Given the description of an element on the screen output the (x, y) to click on. 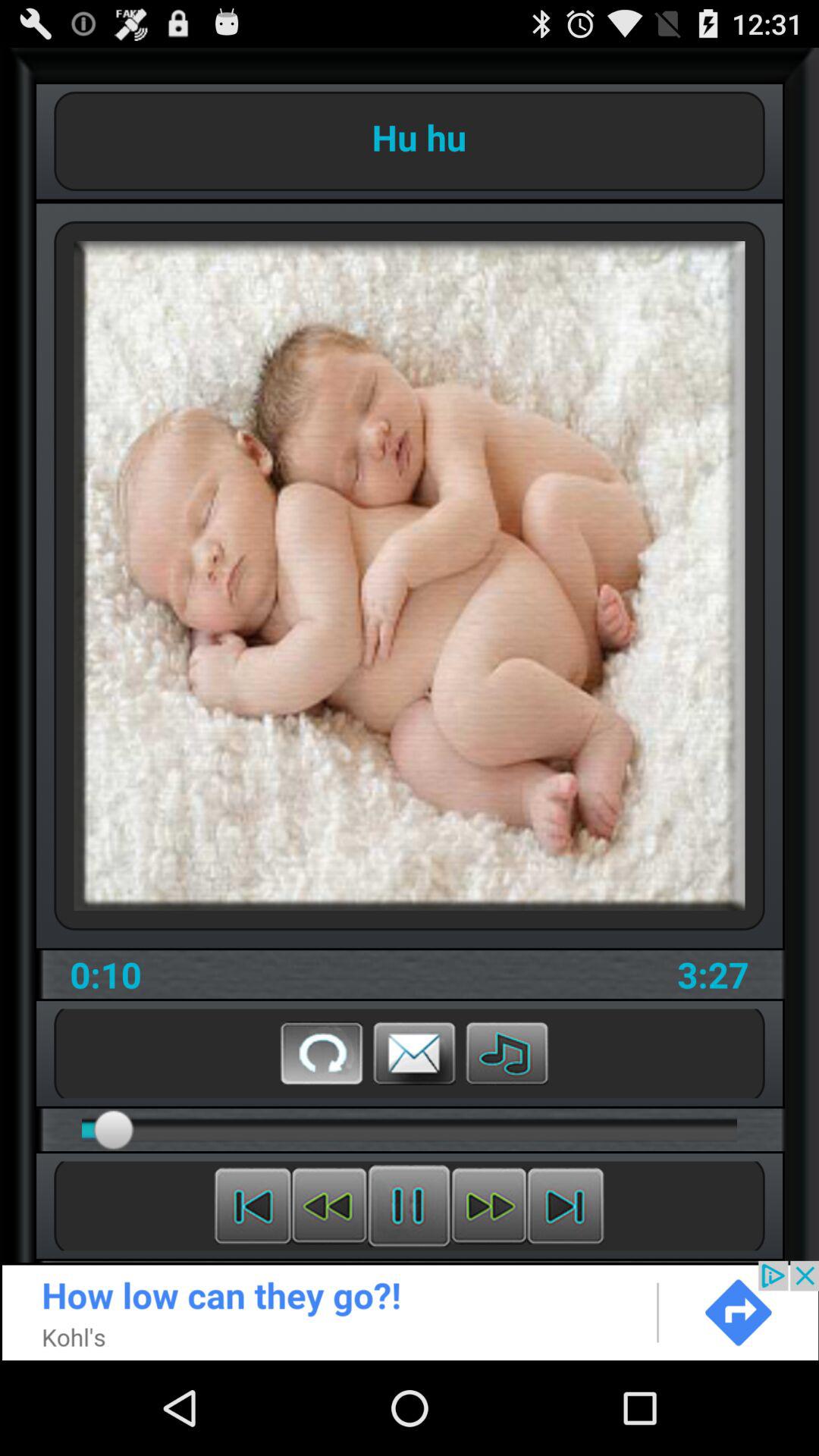
backward button (252, 1205)
